Given the description of an element on the screen output the (x, y) to click on. 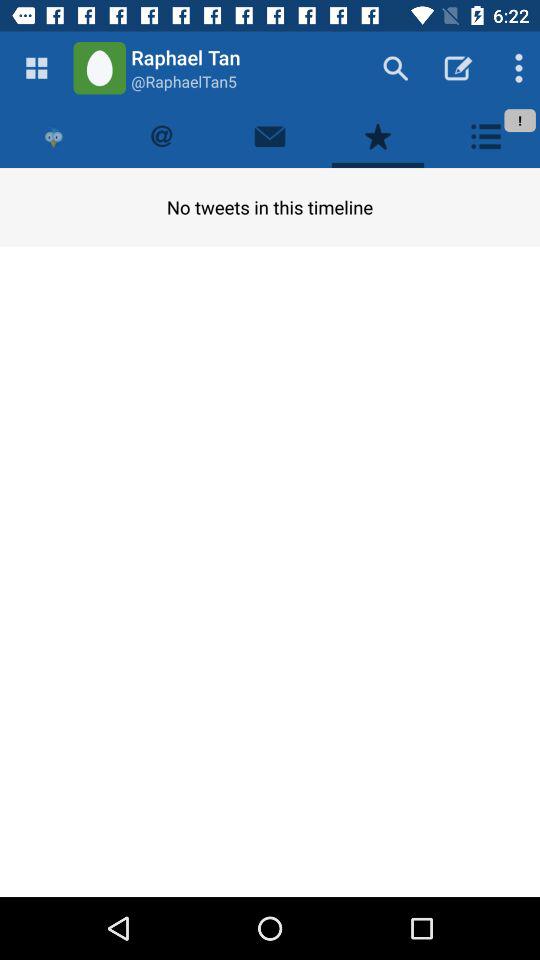
turn on icon above no tweets in (378, 136)
